Given the description of an element on the screen output the (x, y) to click on. 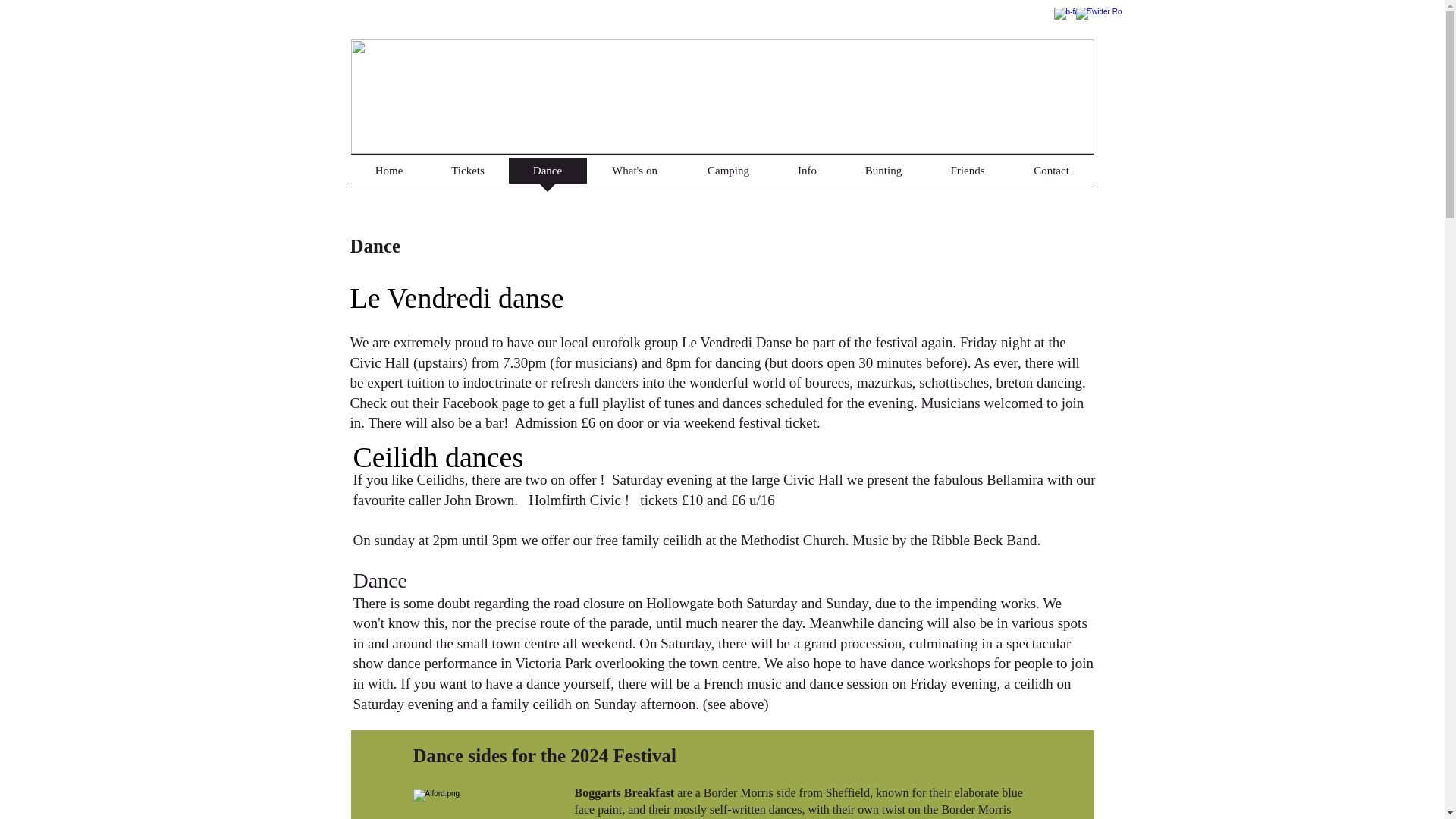
Camping (727, 175)
What's on (634, 175)
Bunting (883, 175)
Tickets (468, 175)
Info (806, 175)
Final HFOF website banner.png (721, 96)
Friends (967, 175)
Facebook page (485, 402)
Dance (547, 175)
Home (388, 175)
Contact (1051, 175)
